Given the description of an element on the screen output the (x, y) to click on. 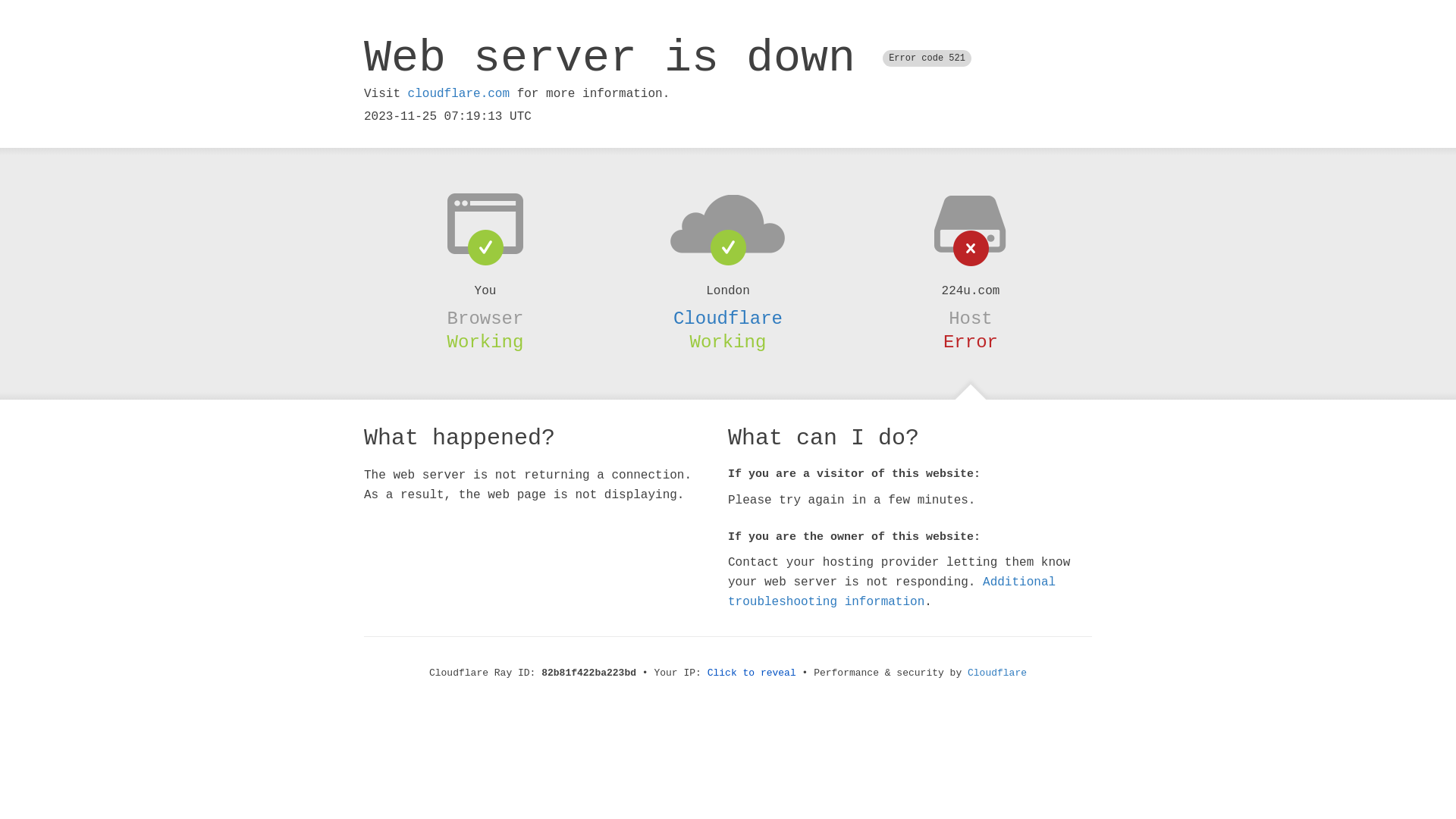
Click to reveal Element type: text (751, 672)
Cloudflare Element type: text (727, 318)
Additional troubleshooting information Element type: text (891, 591)
Cloudflare Element type: text (996, 672)
cloudflare.com Element type: text (458, 93)
